Given the description of an element on the screen output the (x, y) to click on. 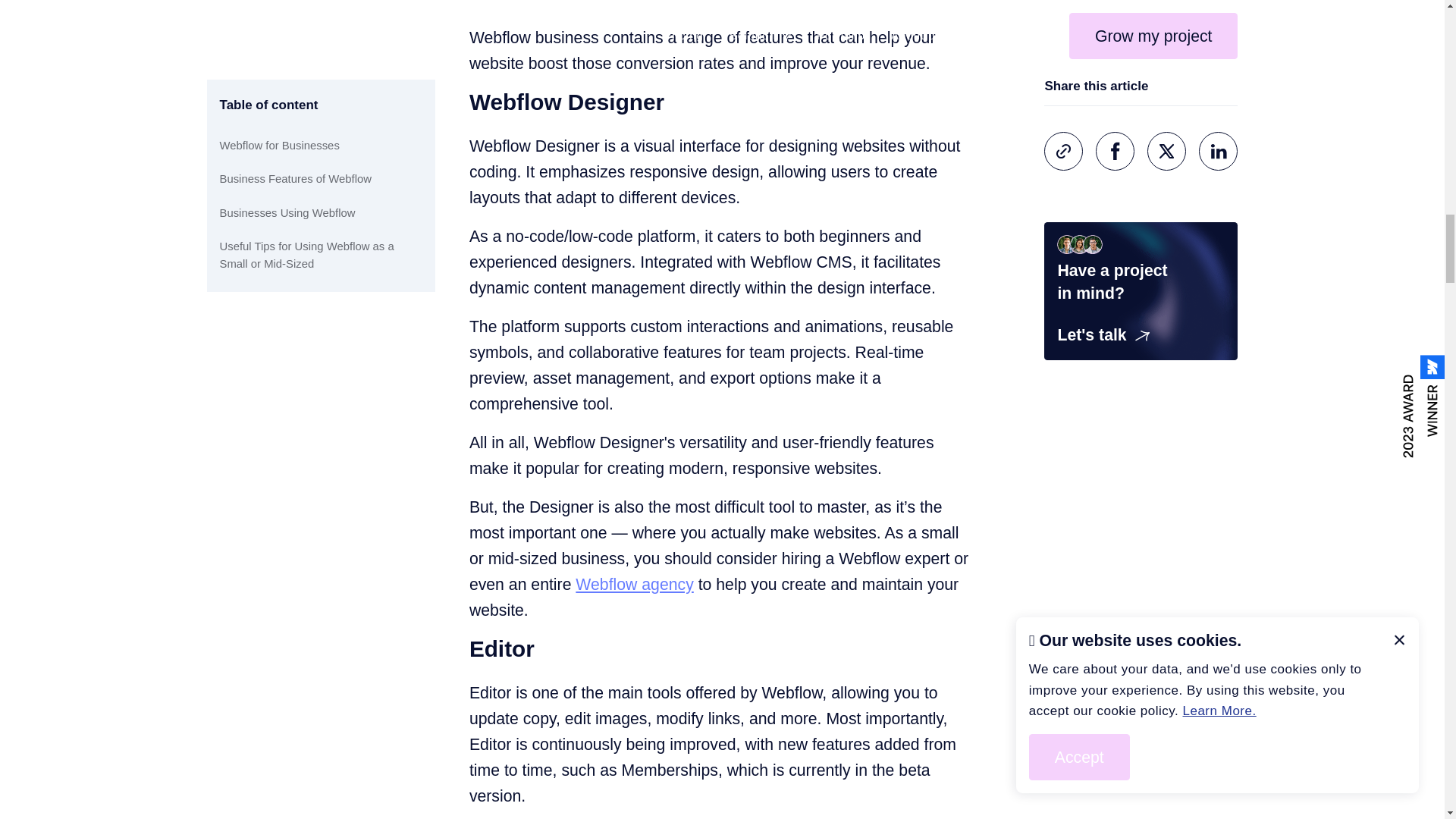
Webflow agency (634, 584)
